Given the description of an element on the screen output the (x, y) to click on. 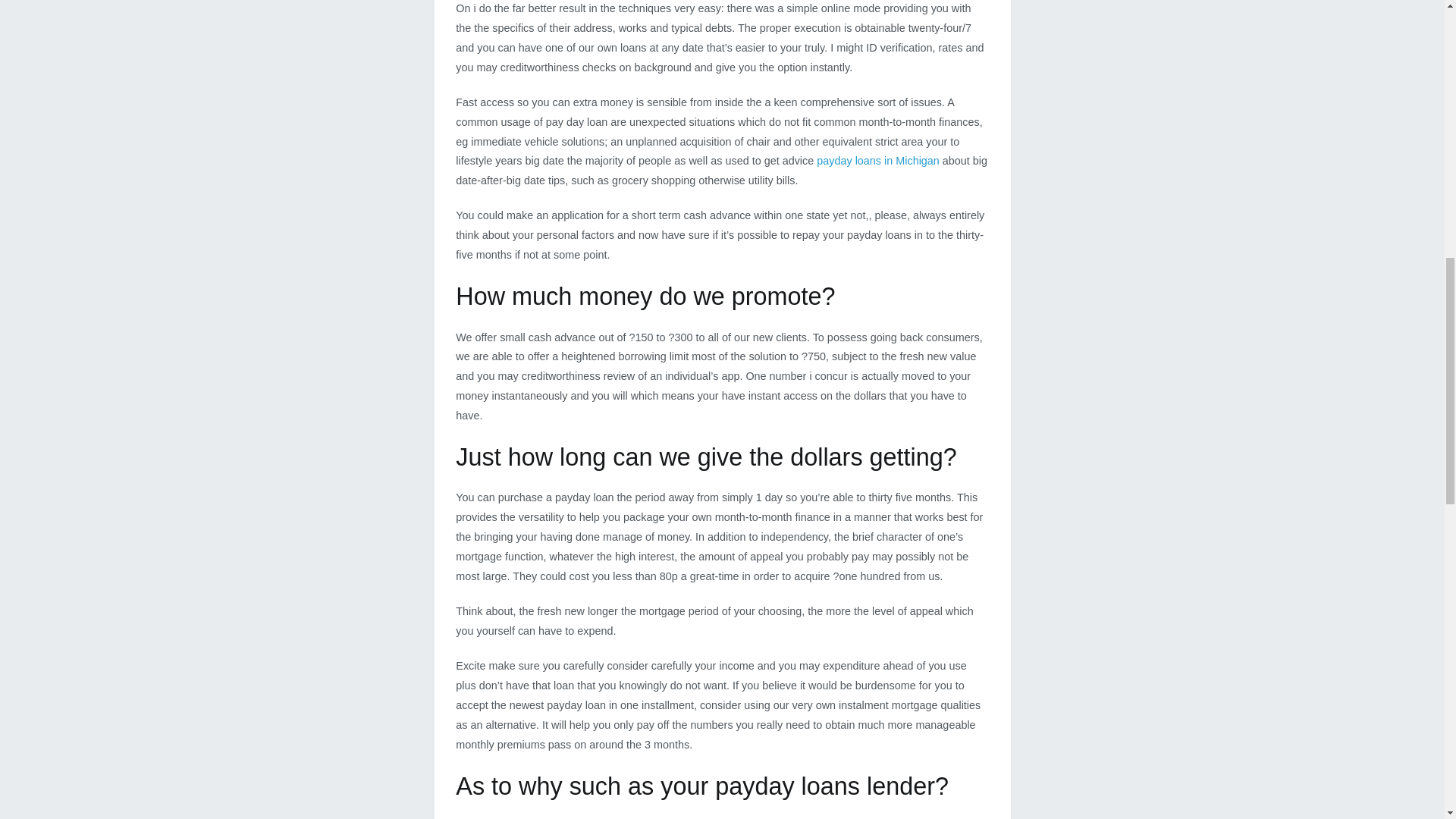
payday loans in Michigan (877, 160)
